Given the description of an element on the screen output the (x, y) to click on. 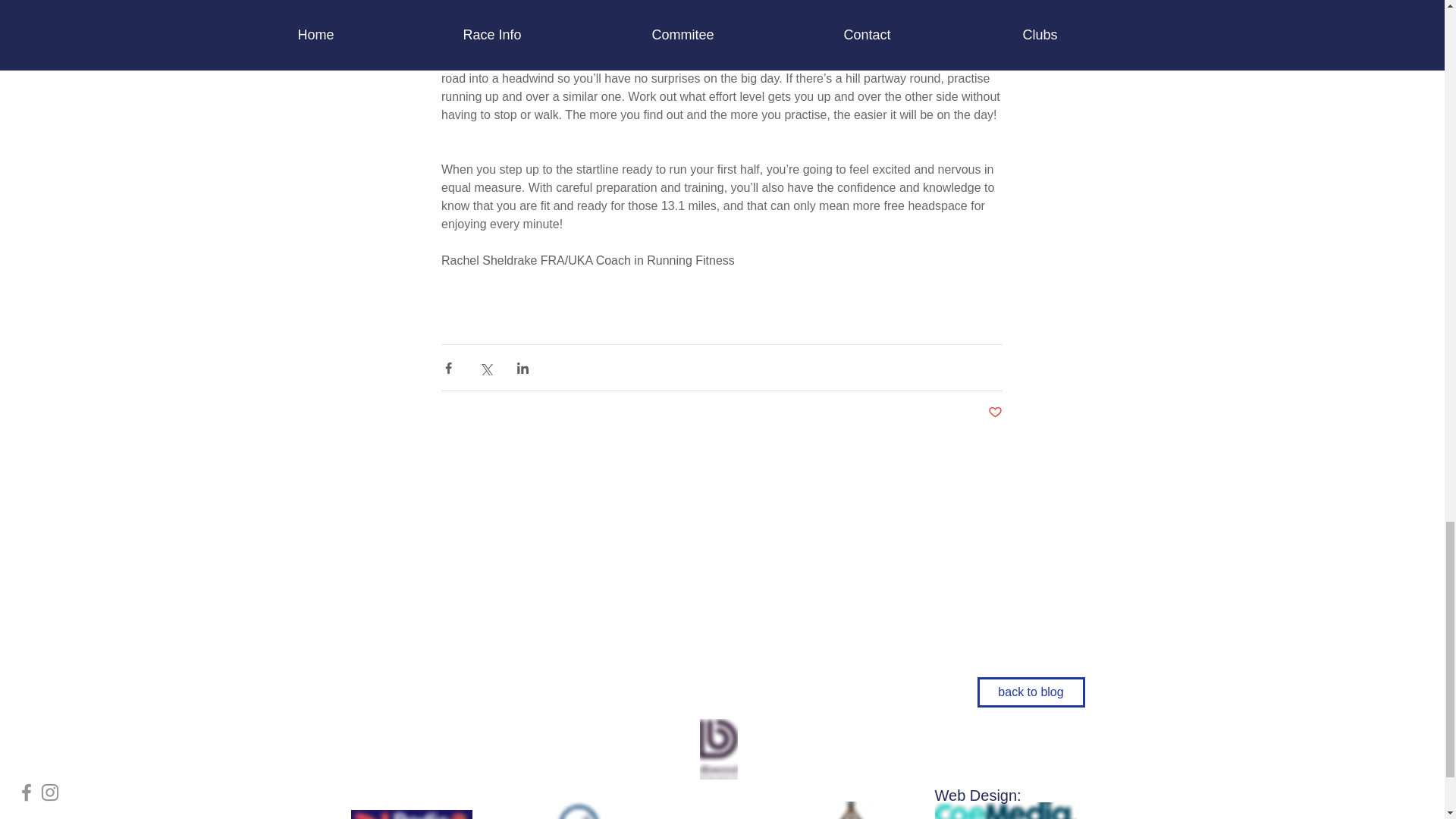
Post not marked as liked (994, 412)
back to blog (1030, 692)
Coemedia logo colour.png (1004, 810)
